Given the description of an element on the screen output the (x, y) to click on. 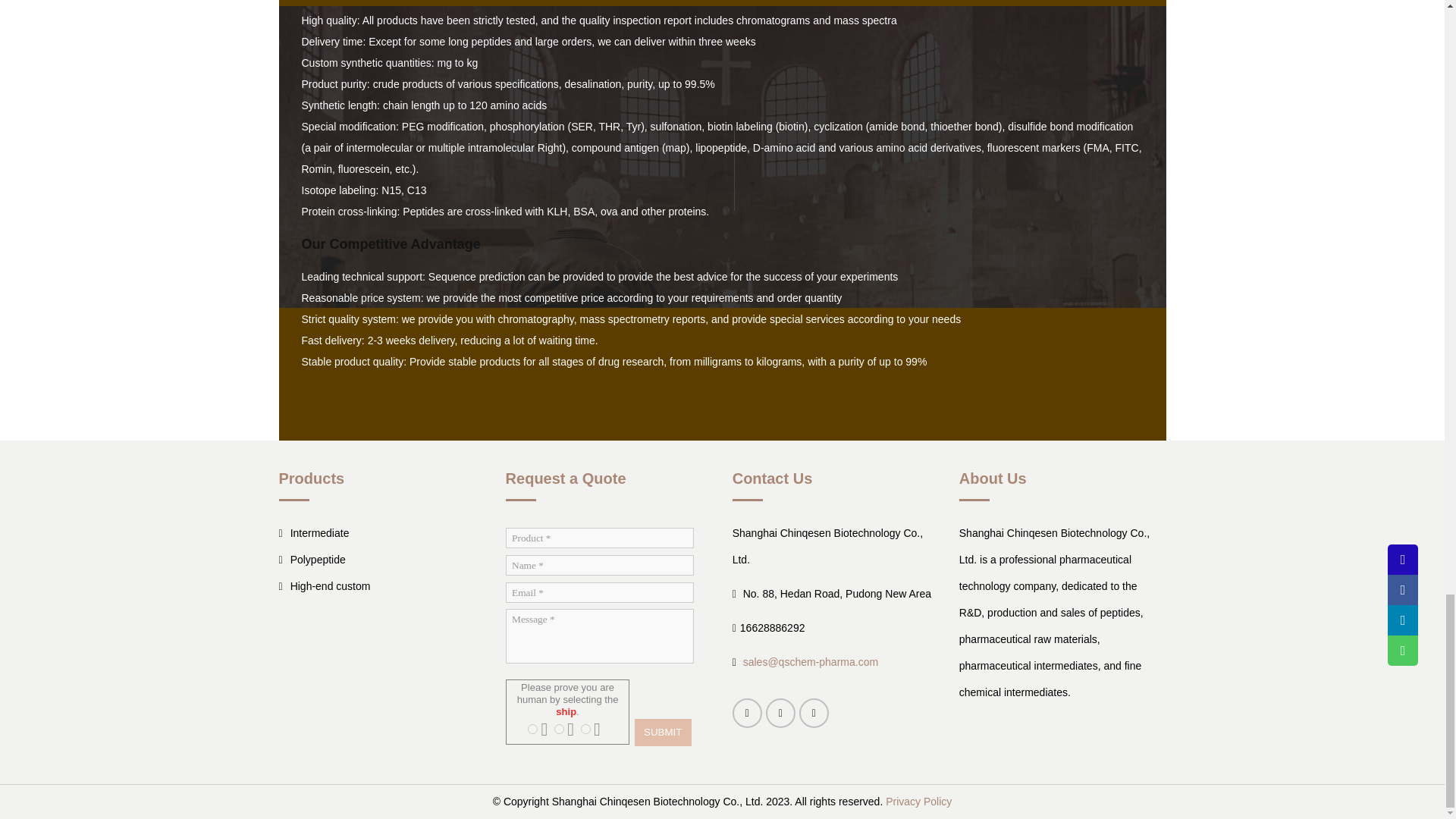
Polypeptide (381, 560)
High-end custom (381, 586)
High-end custom (381, 586)
Intermediate (381, 533)
SUBMIT (662, 732)
Privacy Policy (918, 801)
Polypeptide (381, 560)
Intermediate (381, 533)
